Given the description of an element on the screen output the (x, y) to click on. 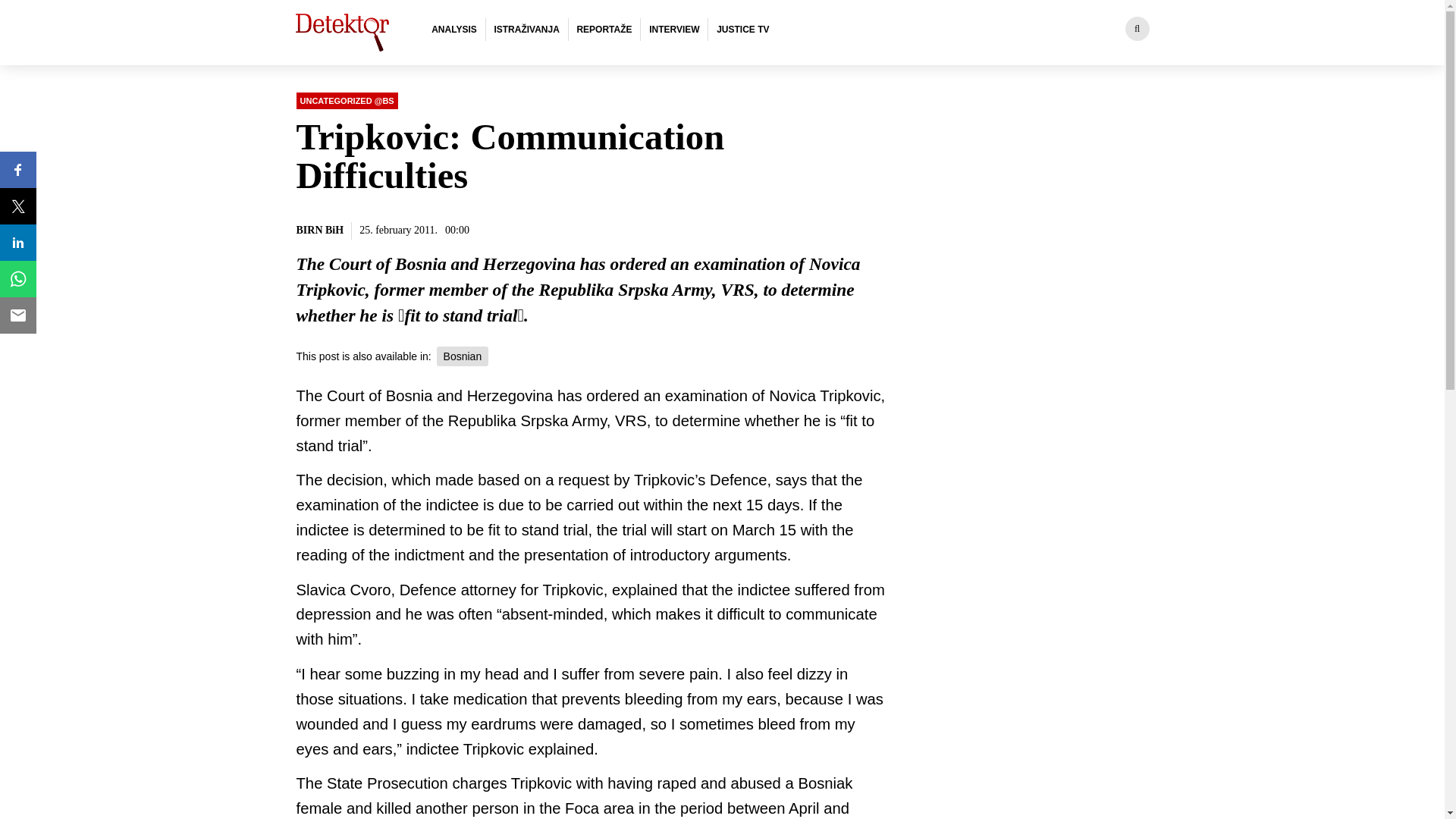
ANALYSIS (453, 29)
Posts by BIRN BiH (319, 230)
Bosnian (462, 356)
INTERVIEW (673, 29)
JUSTICE TV (742, 29)
BIRN BiH (319, 230)
